Given the description of an element on the screen output the (x, y) to click on. 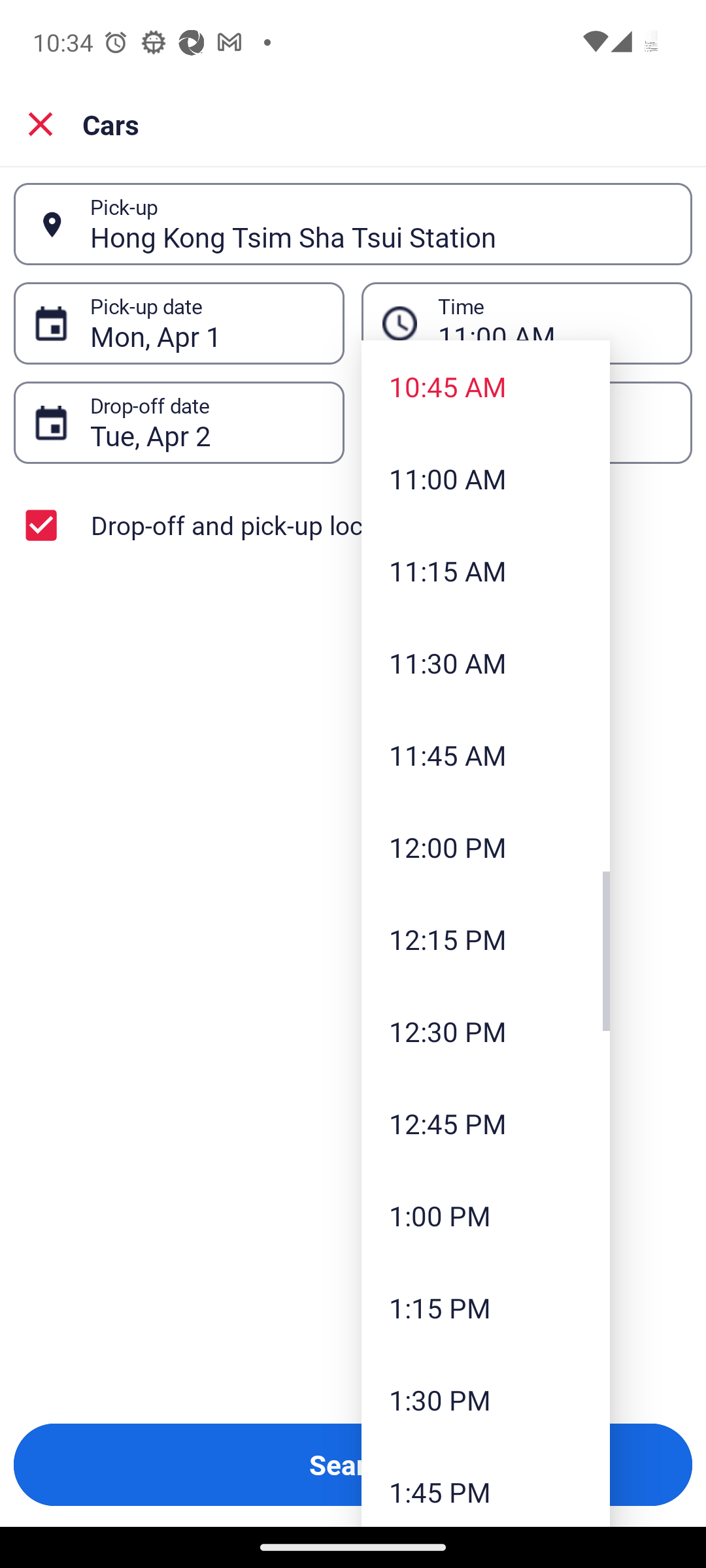
10:45 AM (485, 386)
11:00 AM (485, 478)
11:15 AM (485, 570)
11:30 AM (485, 662)
11:45 AM (485, 754)
12:00 PM (485, 847)
12:15 PM (485, 938)
12:30 PM (485, 1030)
12:45 PM (485, 1123)
1:00 PM (485, 1215)
1:15 PM (485, 1307)
1:30 PM (485, 1399)
1:45 PM (485, 1486)
